Given the description of an element on the screen output the (x, y) to click on. 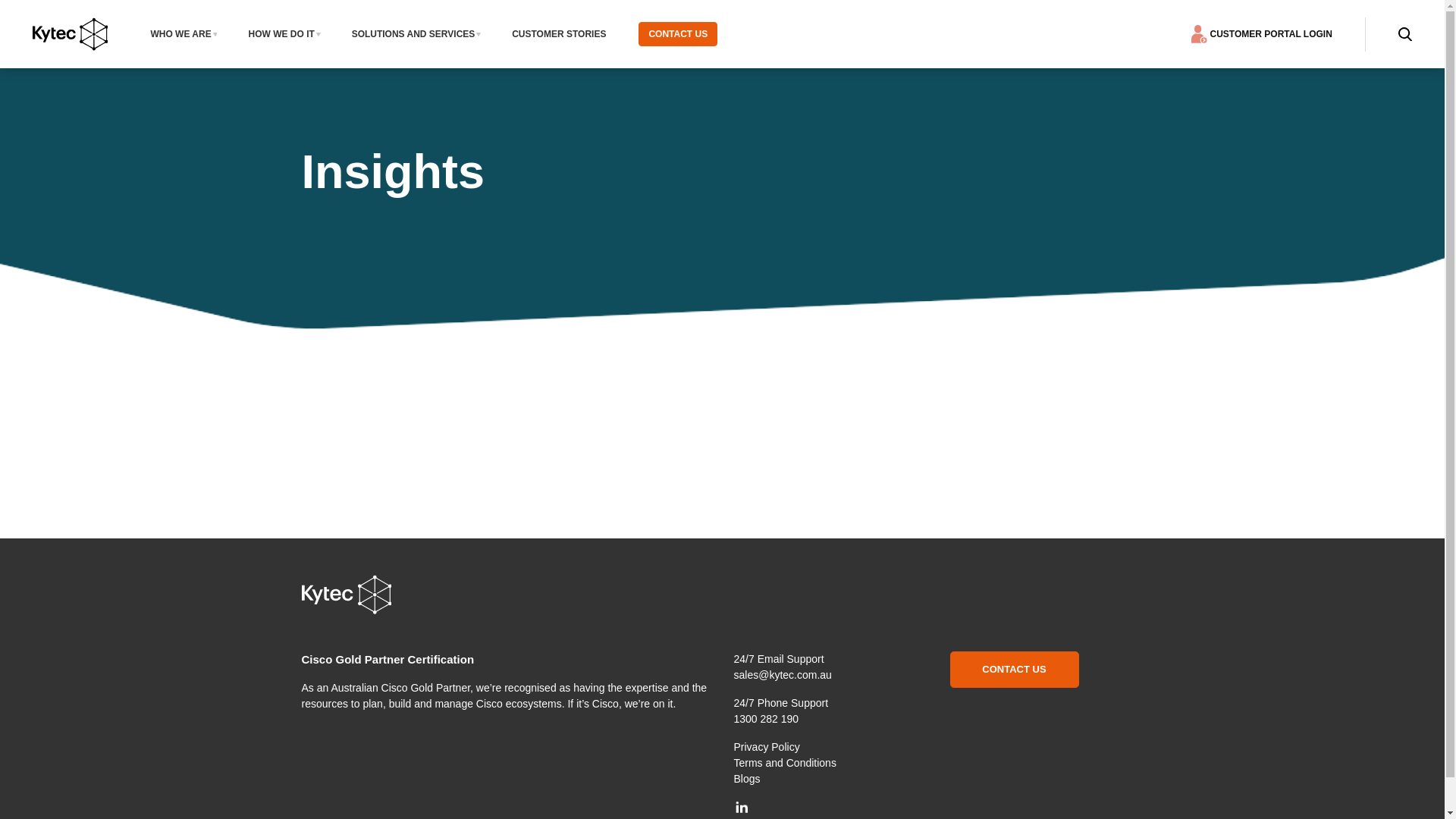
CONTACT US (678, 33)
HOW WE DO IT (284, 33)
CUSTOMER STORIES (558, 33)
WHO WE ARE (183, 33)
SOLUTIONS AND SERVICES (417, 33)
CUSTOMER PORTAL LOGIN (1261, 33)
Search Page (1405, 34)
